Given the description of an element on the screen output the (x, y) to click on. 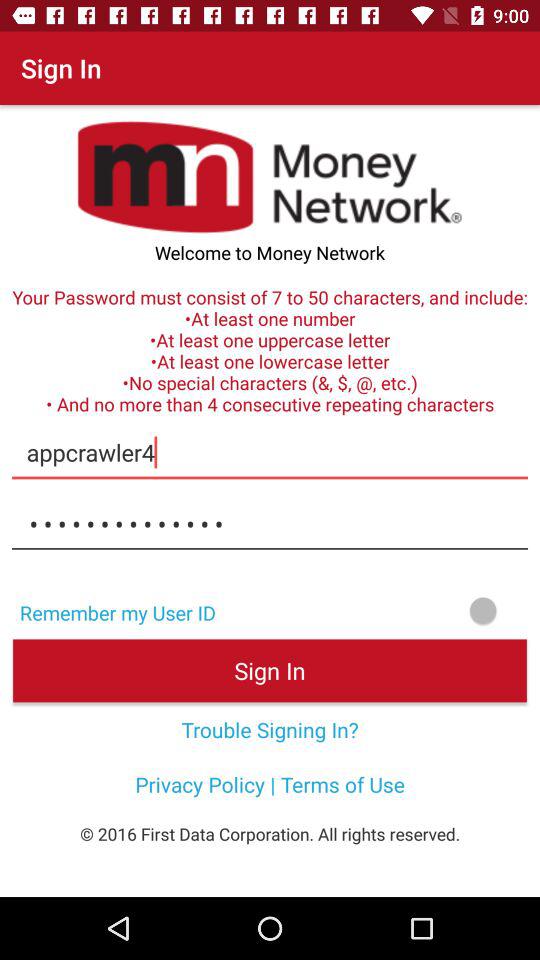
choose icon to the right of remember my user (384, 610)
